Given the description of an element on the screen output the (x, y) to click on. 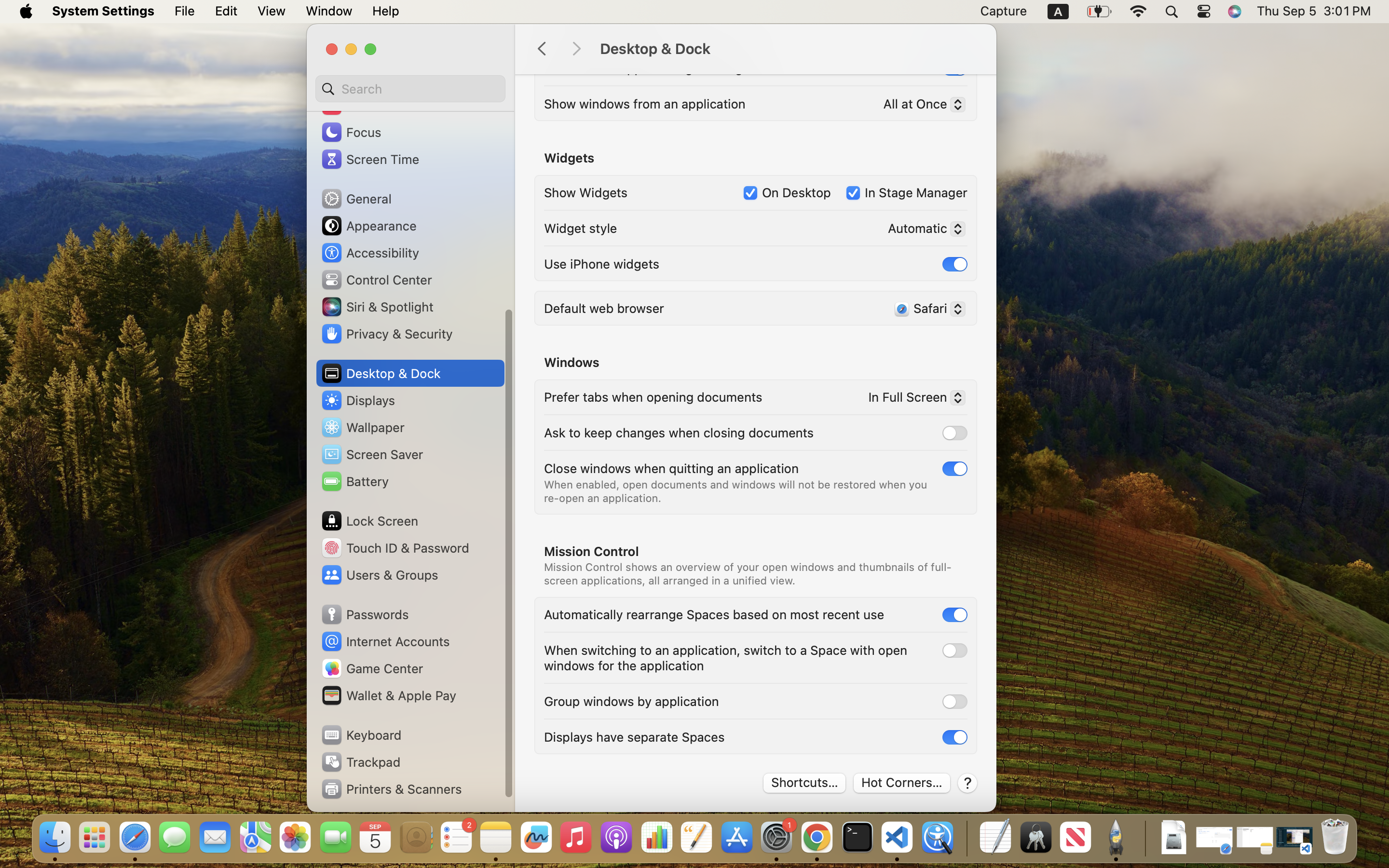
General Element type: AXStaticText (355, 198)
Users & Groups Element type: AXStaticText (378, 574)
All at Once Element type: AXPopUpButton (920, 105)
Default web browser Element type: AXStaticText (603, 307)
Lock Screen Element type: AXStaticText (369, 520)
